Given the description of an element on the screen output the (x, y) to click on. 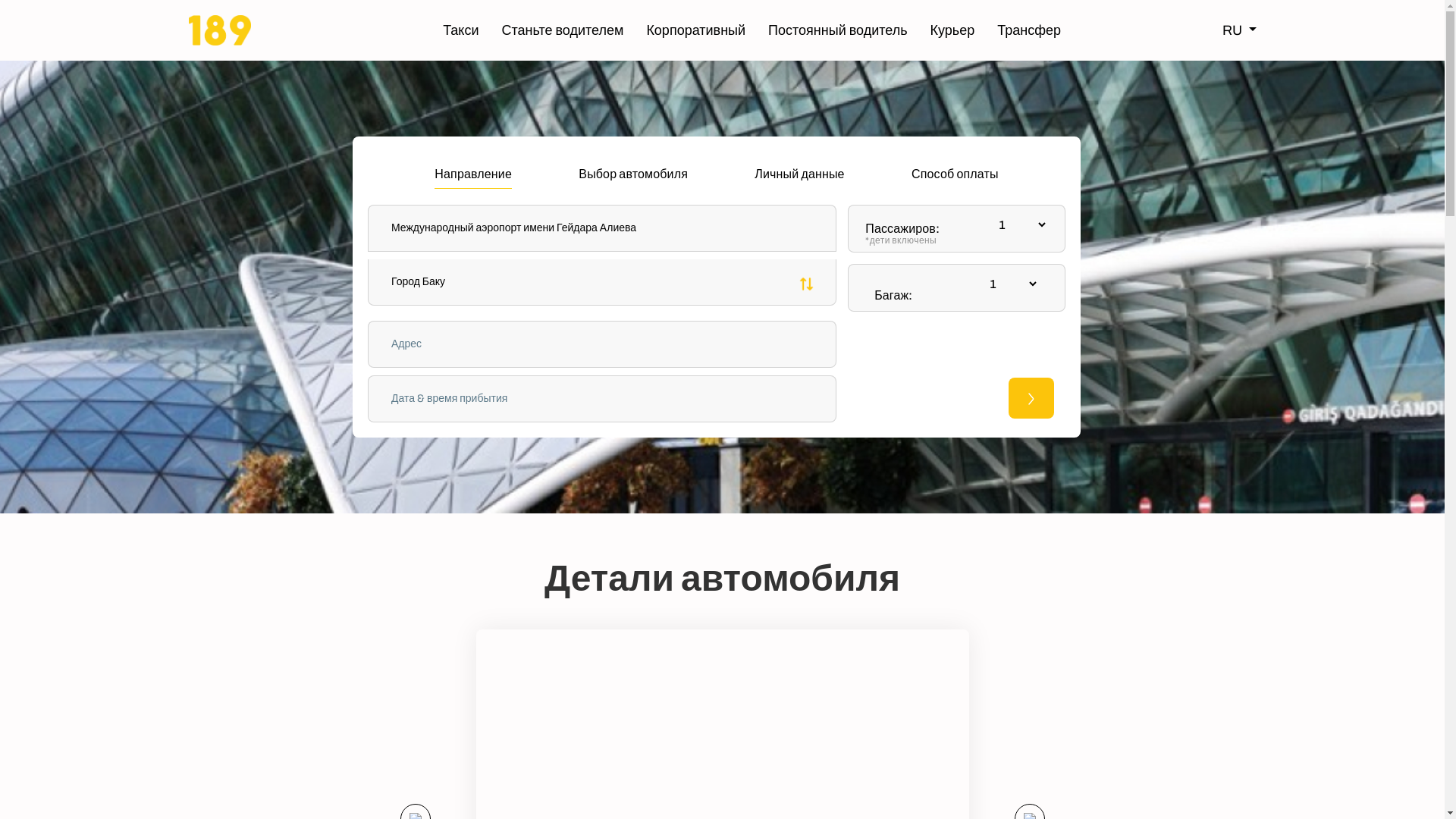
RU Element type: text (1239, 30)
